Given the description of an element on the screen output the (x, y) to click on. 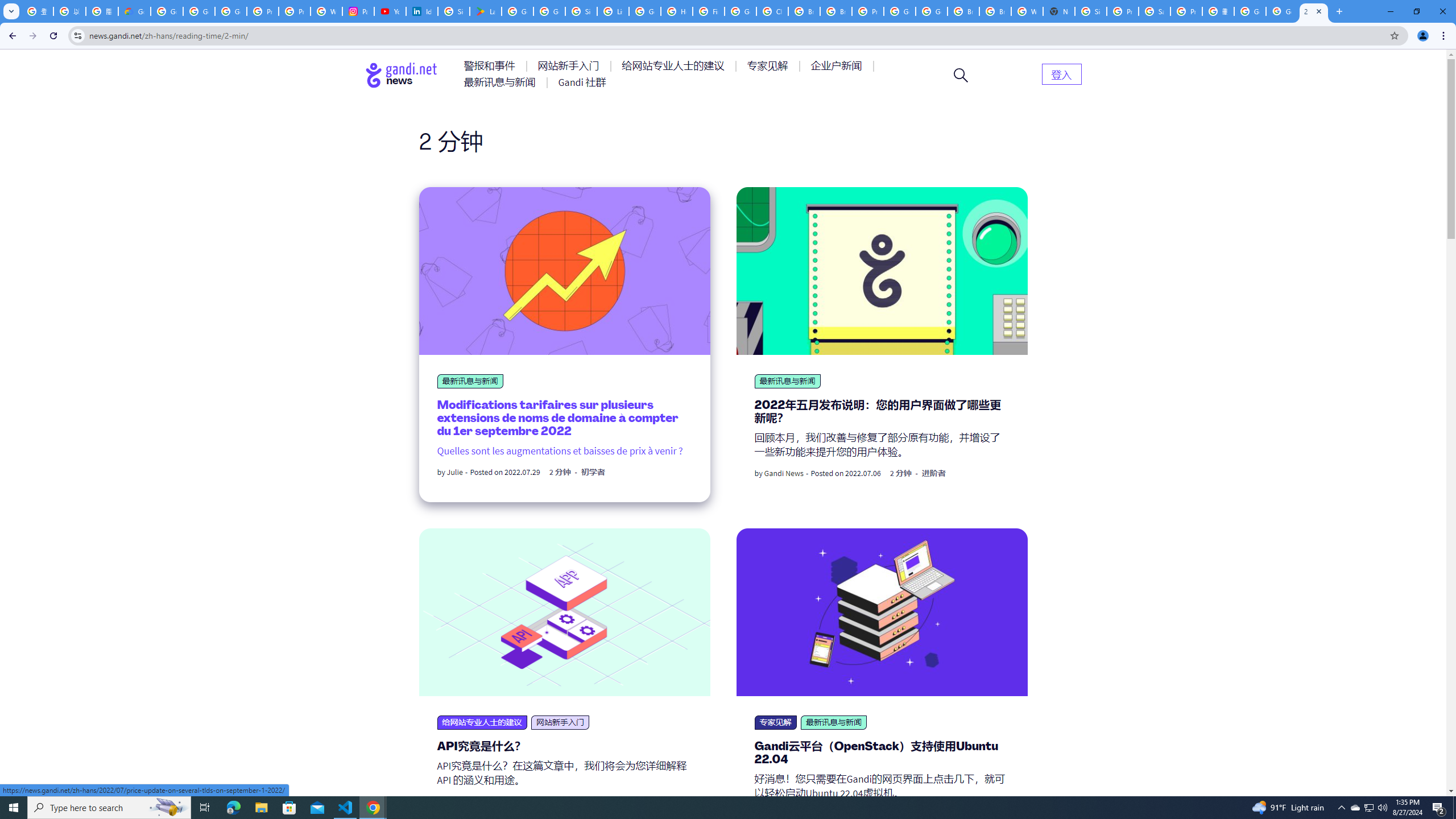
Gandi News (783, 473)
How do I create a new Google Account? - Google Account Help (676, 11)
Browse Chrome as a guest - Computer - Google Chrome Help (804, 11)
Privacy Help Center - Policies Help (294, 11)
AutomationID: menu-item-77764 (769, 65)
YouTube Culture & Trends - On The Rise: Handcam Videos (389, 11)
Open search form (960, 74)
